Given the description of an element on the screen output the (x, y) to click on. 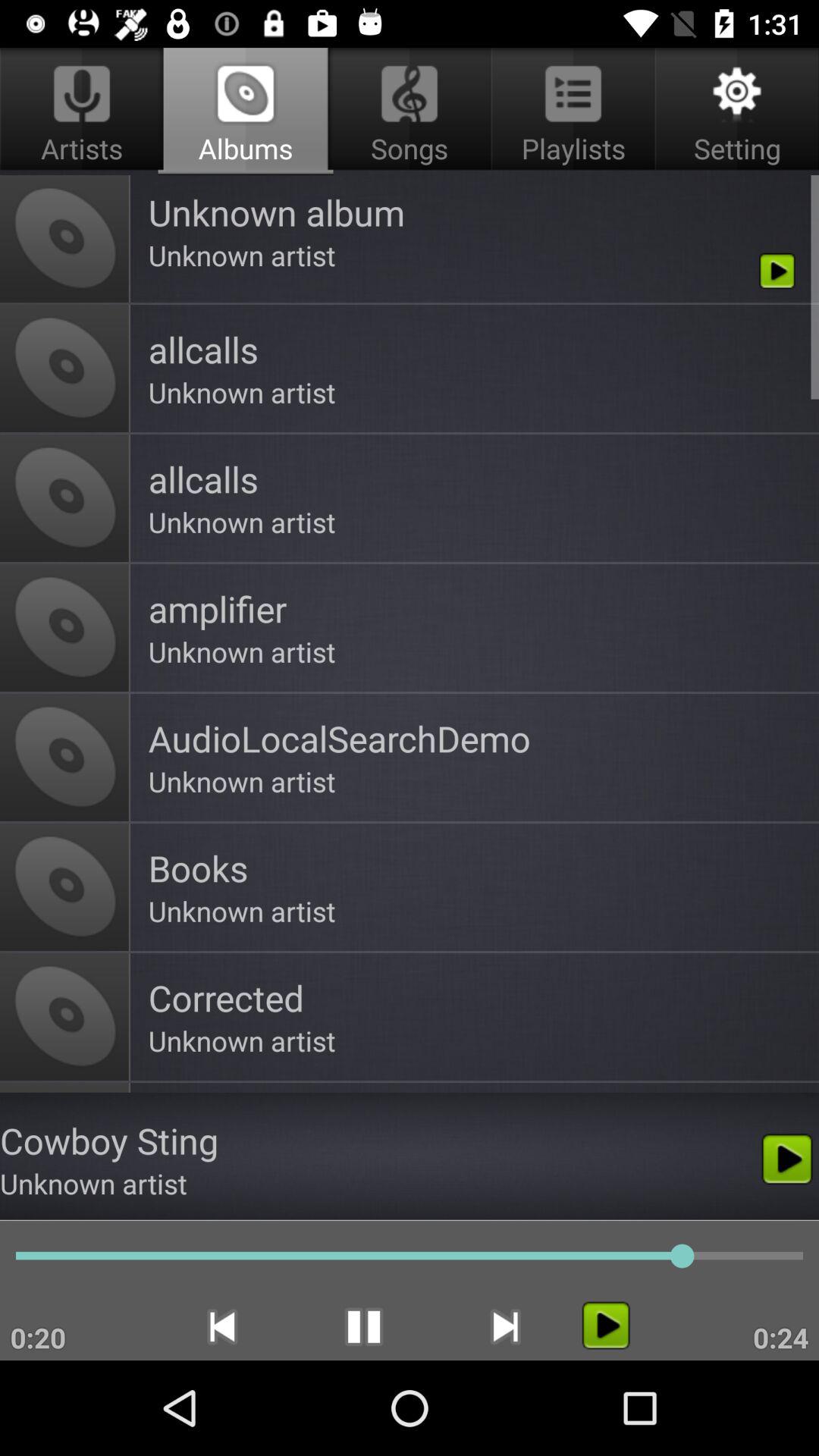
play the song (605, 1325)
